Given the description of an element on the screen output the (x, y) to click on. 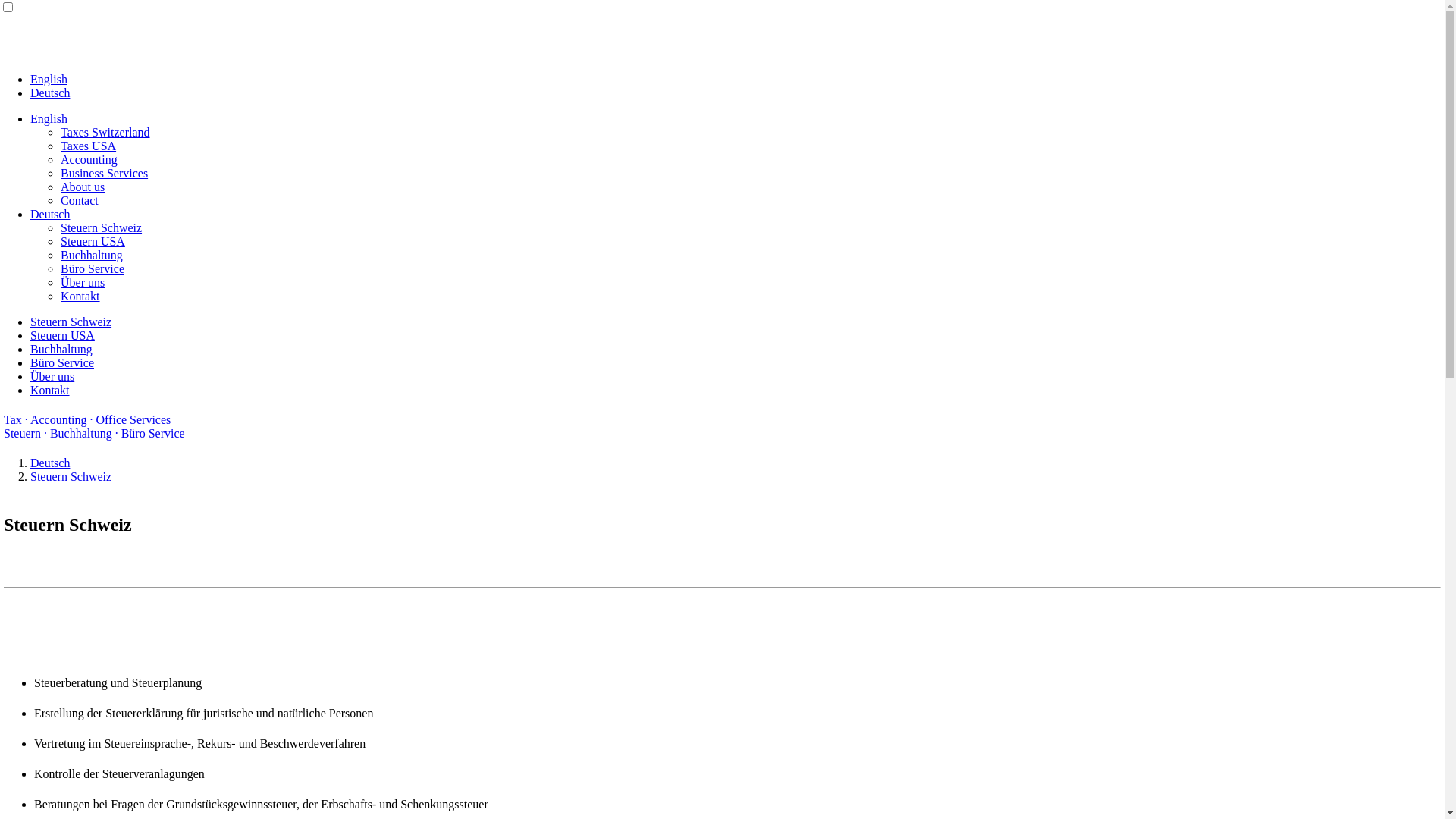
Buchhaltung Element type: text (61, 348)
Steuern USA Element type: text (92, 241)
Business Services Element type: text (103, 172)
Deutsch Element type: text (49, 92)
Taxes Switzerland Element type: text (105, 131)
English Element type: text (48, 78)
English Element type: text (48, 118)
Steuern Schweiz Element type: text (70, 476)
Steuern Schweiz Element type: text (70, 321)
Steuern Schweiz Element type: text (100, 227)
Contact Element type: text (79, 200)
Deutsch Element type: text (49, 462)
Steuern USA Element type: text (62, 335)
About us Element type: text (82, 186)
Kontakt Element type: text (49, 389)
Accounting Element type: text (88, 159)
Taxes USA Element type: text (88, 145)
Kontakt Element type: text (80, 295)
Deutsch Element type: text (49, 213)
Buchhaltung Element type: text (91, 254)
